Given the description of an element on the screen output the (x, y) to click on. 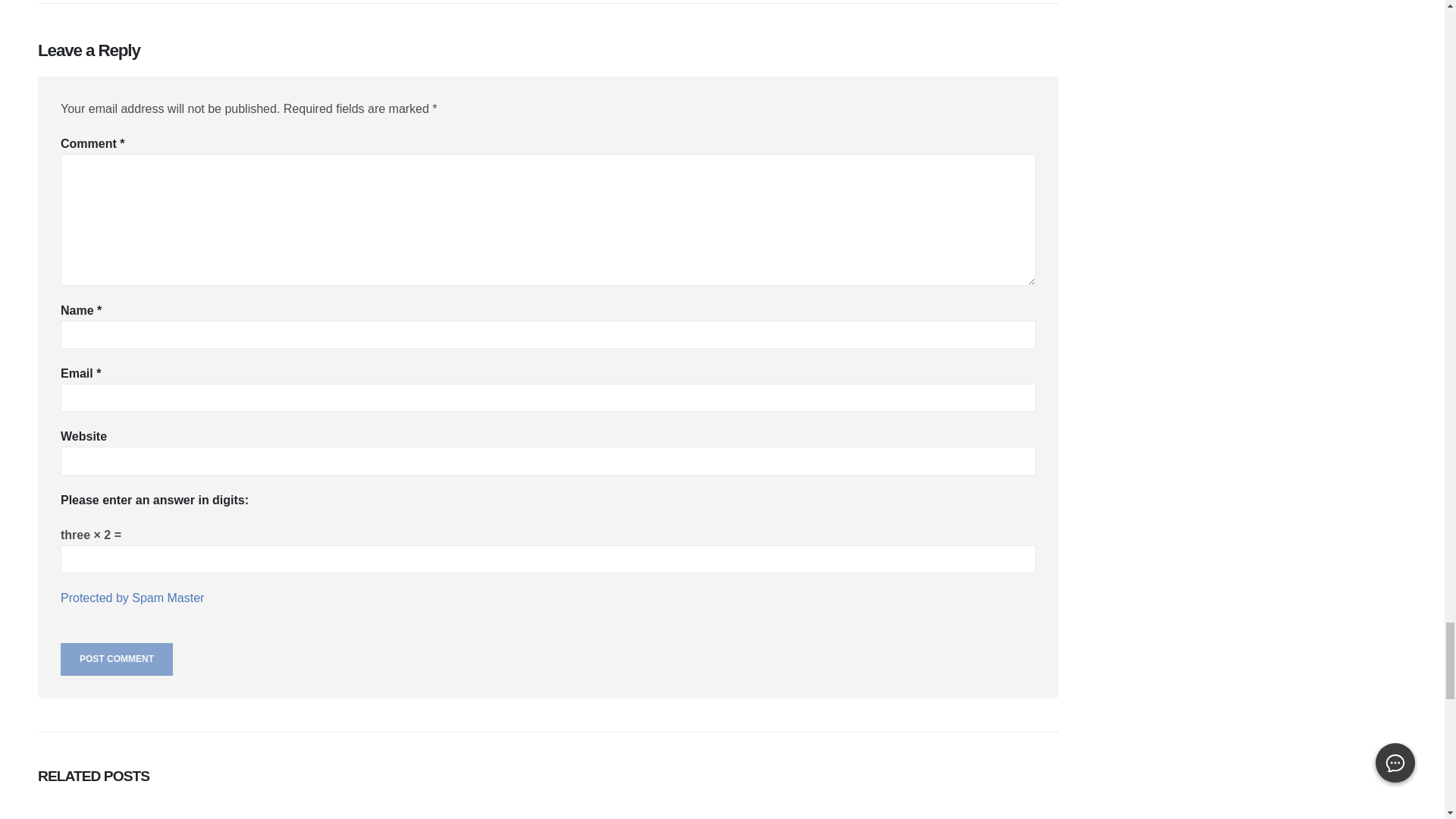
Post Comment (117, 658)
